Given the description of an element on the screen output the (x, y) to click on. 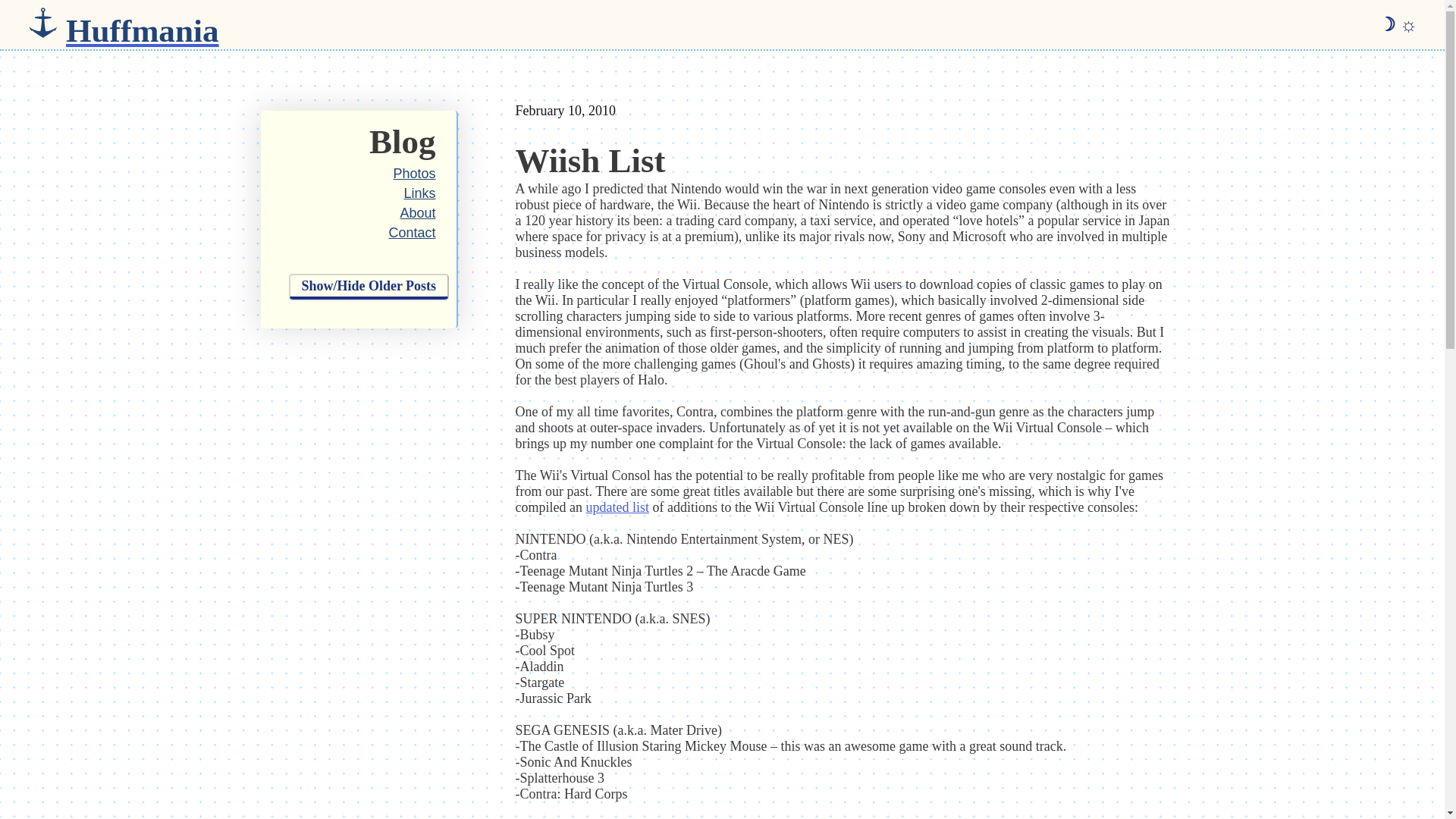
Photos (414, 173)
Huffmania (142, 24)
About (416, 212)
Links (419, 192)
Contact (411, 232)
